Given the description of an element on the screen output the (x, y) to click on. 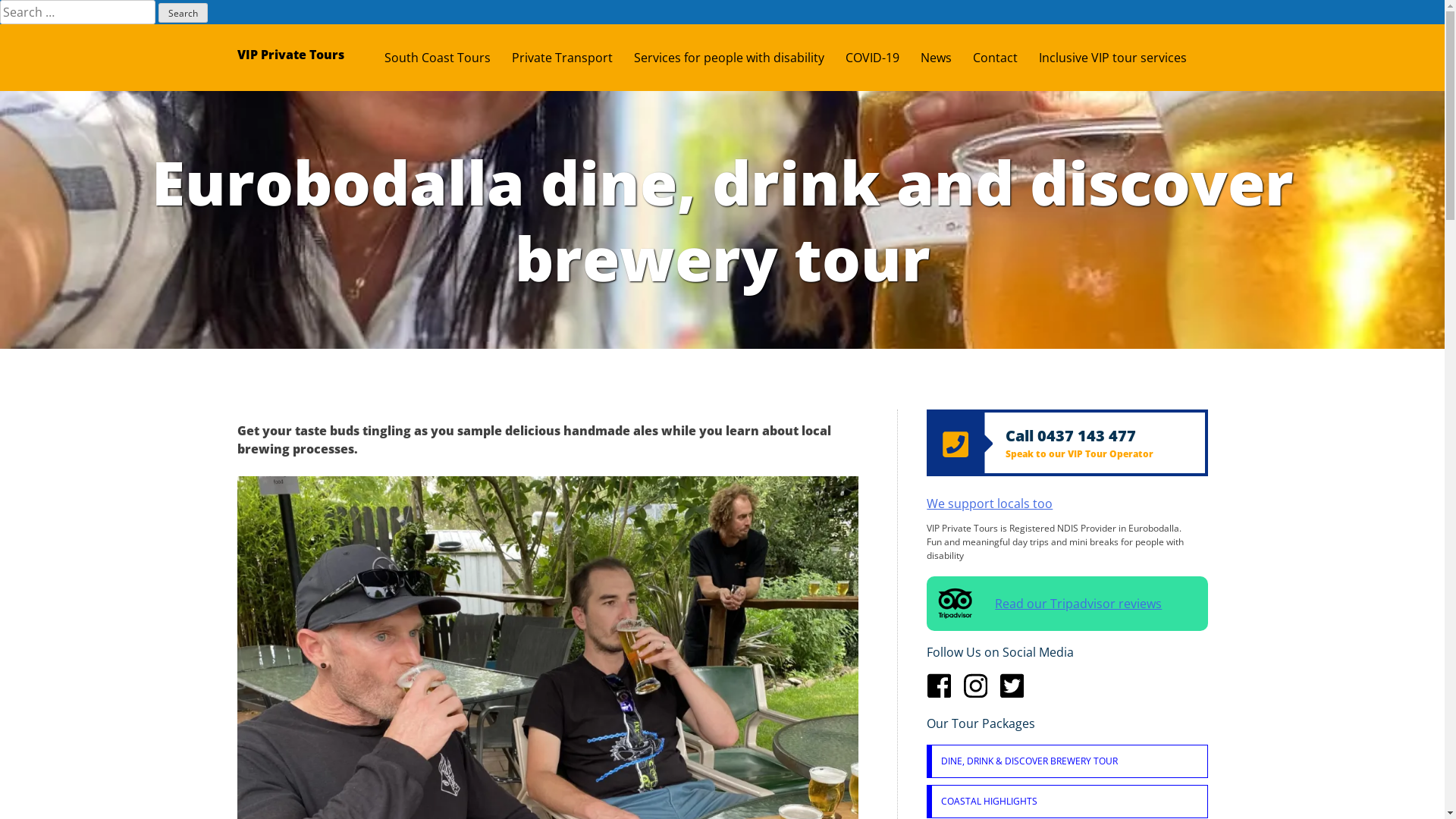
News Element type: text (946, 57)
DINE, DRINK & DISCOVER BREWERY TOUR Element type: text (1069, 761)
Read our Tripadvisor reviews Element type: text (1066, 603)
Private Transport Element type: text (572, 57)
COASTAL HIGHLIGHTS Element type: text (1069, 801)
Inclusive VIP tour services Element type: text (1123, 57)
VIP Private Tours Element type: text (289, 54)
South Coast Tours Element type: text (447, 57)
Search Element type: text (182, 12)
Call 0437 143 477
Speak to our VIP Tour Operator Element type: text (1066, 442)
We support locals too Element type: text (989, 503)
Services for people with disability Element type: text (739, 57)
Contact Element type: text (1005, 57)
COVID-19 Element type: text (881, 57)
